Given the description of an element on the screen output the (x, y) to click on. 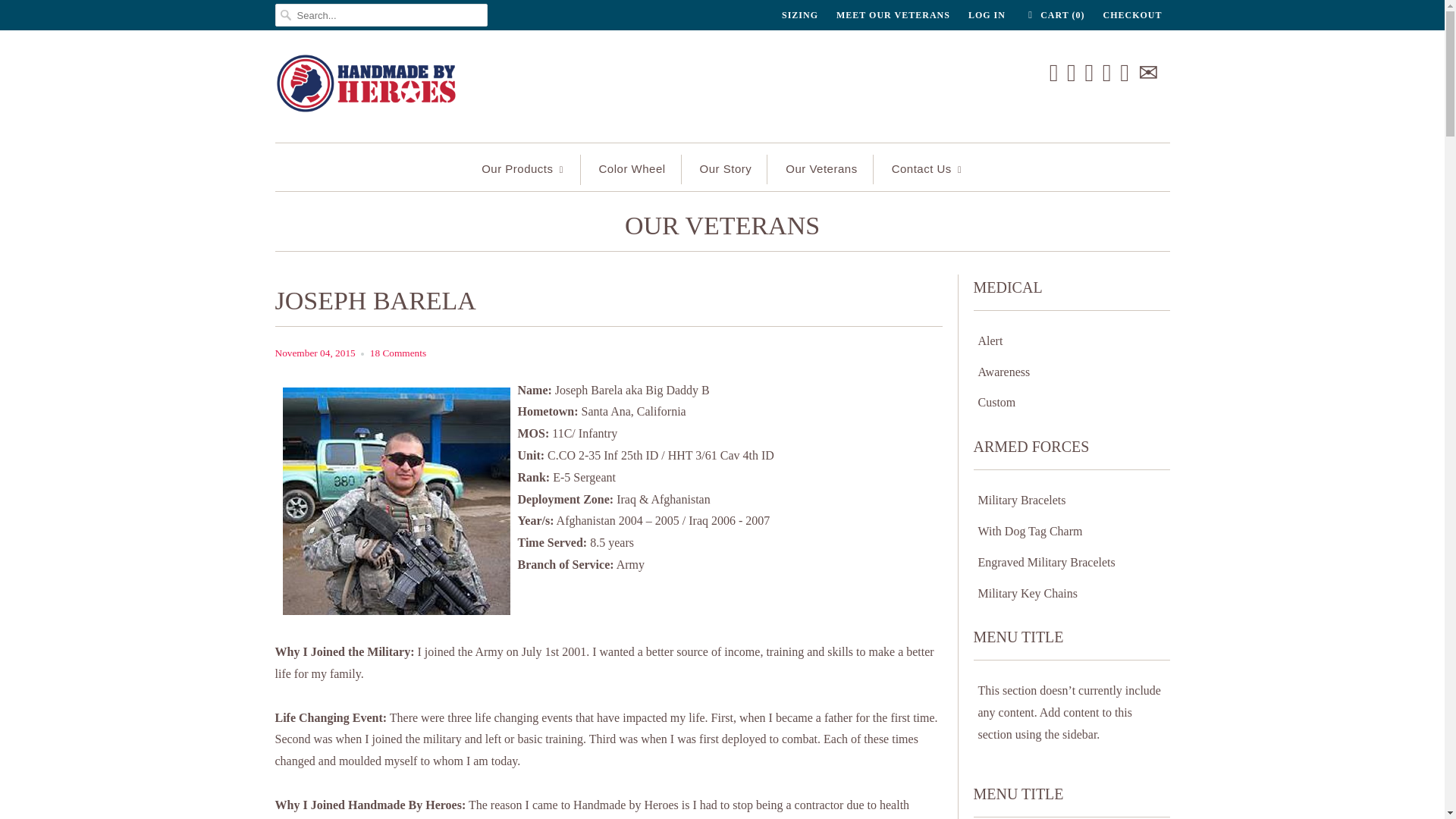
Our Veterans (722, 229)
SIZING (799, 15)
MEET OUR VETERANS (892, 15)
Handmade By Heroes (366, 90)
LOG IN (987, 15)
CHECKOUT (1131, 15)
Our Products (522, 169)
